Given the description of an element on the screen output the (x, y) to click on. 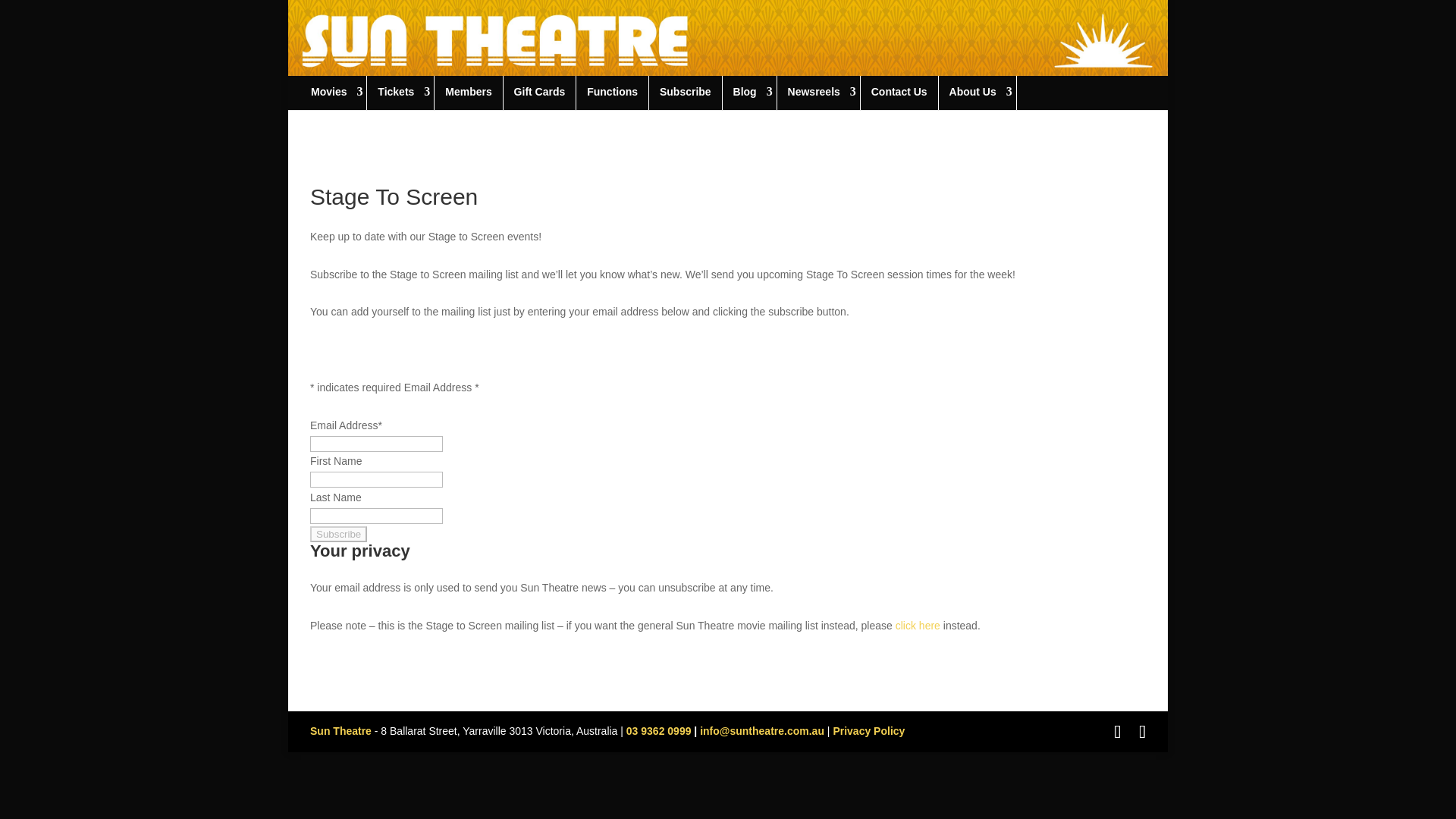
Gift Cards (541, 92)
About Us (979, 92)
Newsreels (820, 92)
Privacy Policy (868, 730)
Subscribe (687, 92)
Movies (334, 92)
Blog (751, 92)
Tickets (401, 92)
Subscribe (338, 534)
click here (917, 625)
